Given the description of an element on the screen output the (x, y) to click on. 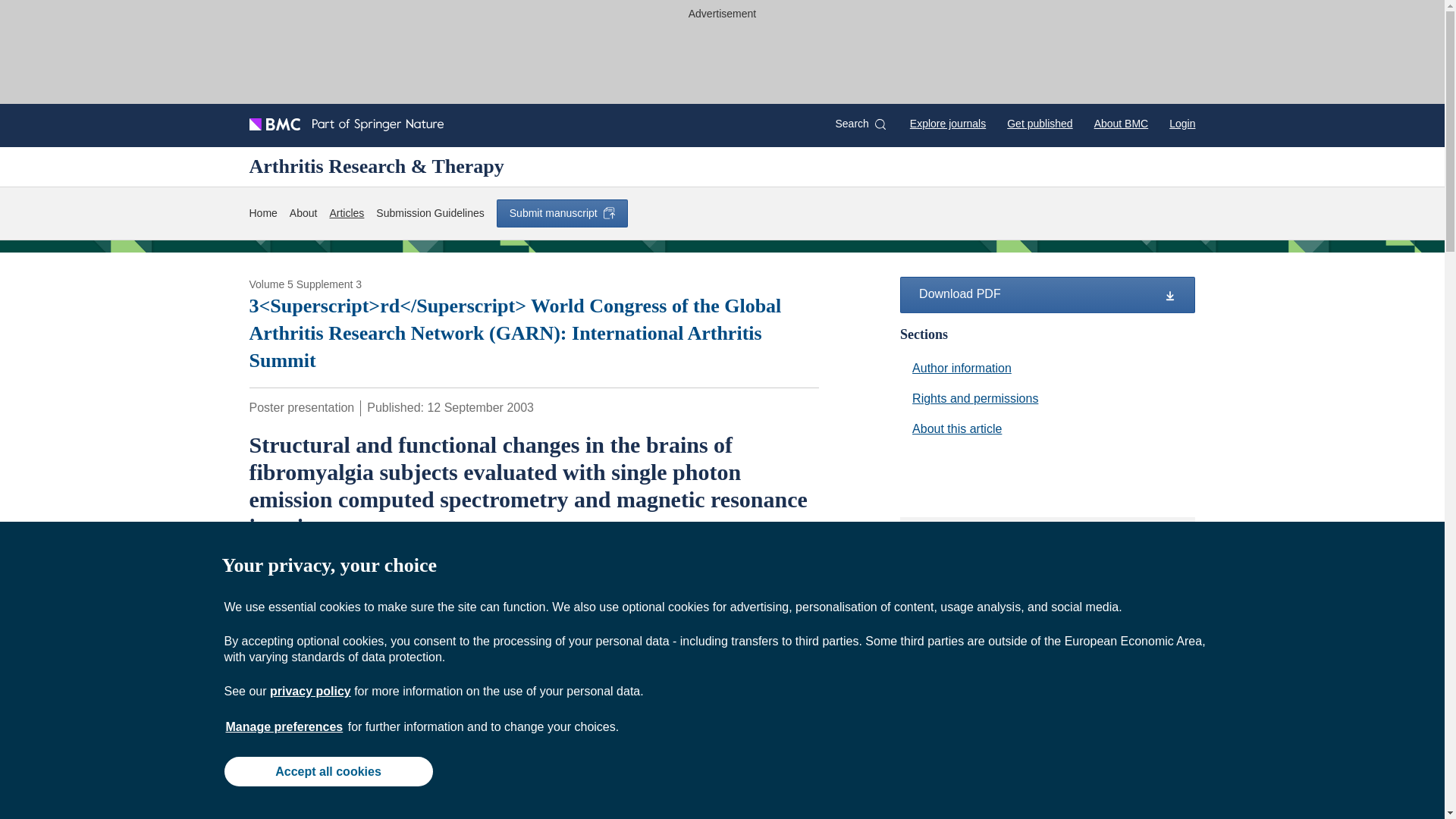
D Danda (500, 562)
Manage preferences (284, 726)
R Kwiatek (619, 562)
L Yelland (444, 562)
S Behin-Ain (381, 562)
Home (262, 212)
Get published (1039, 123)
About BMC (1121, 123)
K Pile (264, 562)
Accept all cookies (328, 771)
Articles (346, 212)
About (303, 212)
L Barnden (314, 562)
Arthritis Res Ther (295, 594)
